Given the description of an element on the screen output the (x, y) to click on. 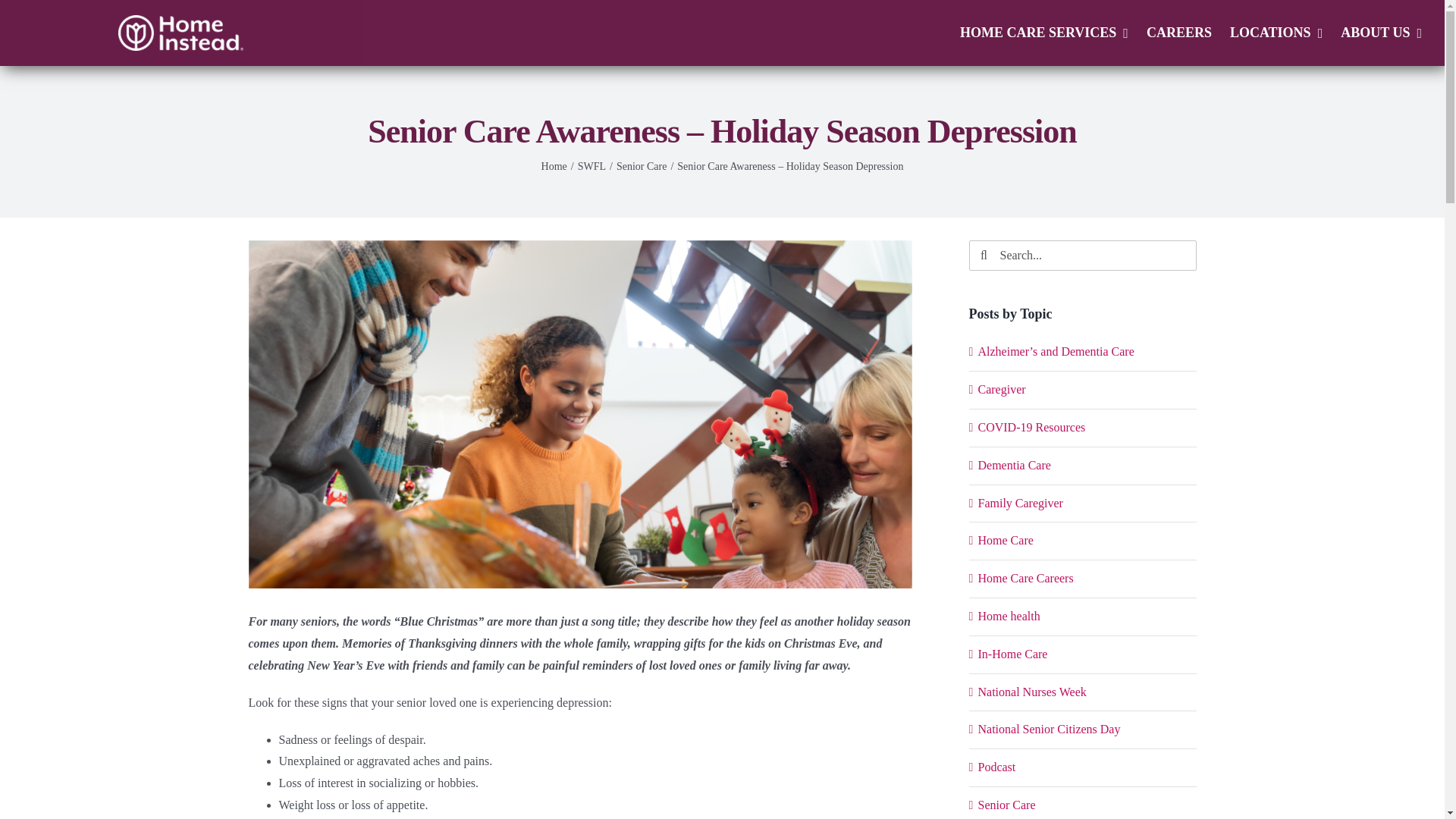
Senior Care (640, 165)
CAREERS (1179, 32)
LOCATIONS (1276, 32)
HOME CARE SERVICES (1043, 32)
Home (554, 165)
ABOUT US (1381, 32)
SWFL (591, 165)
